Given the description of an element on the screen output the (x, y) to click on. 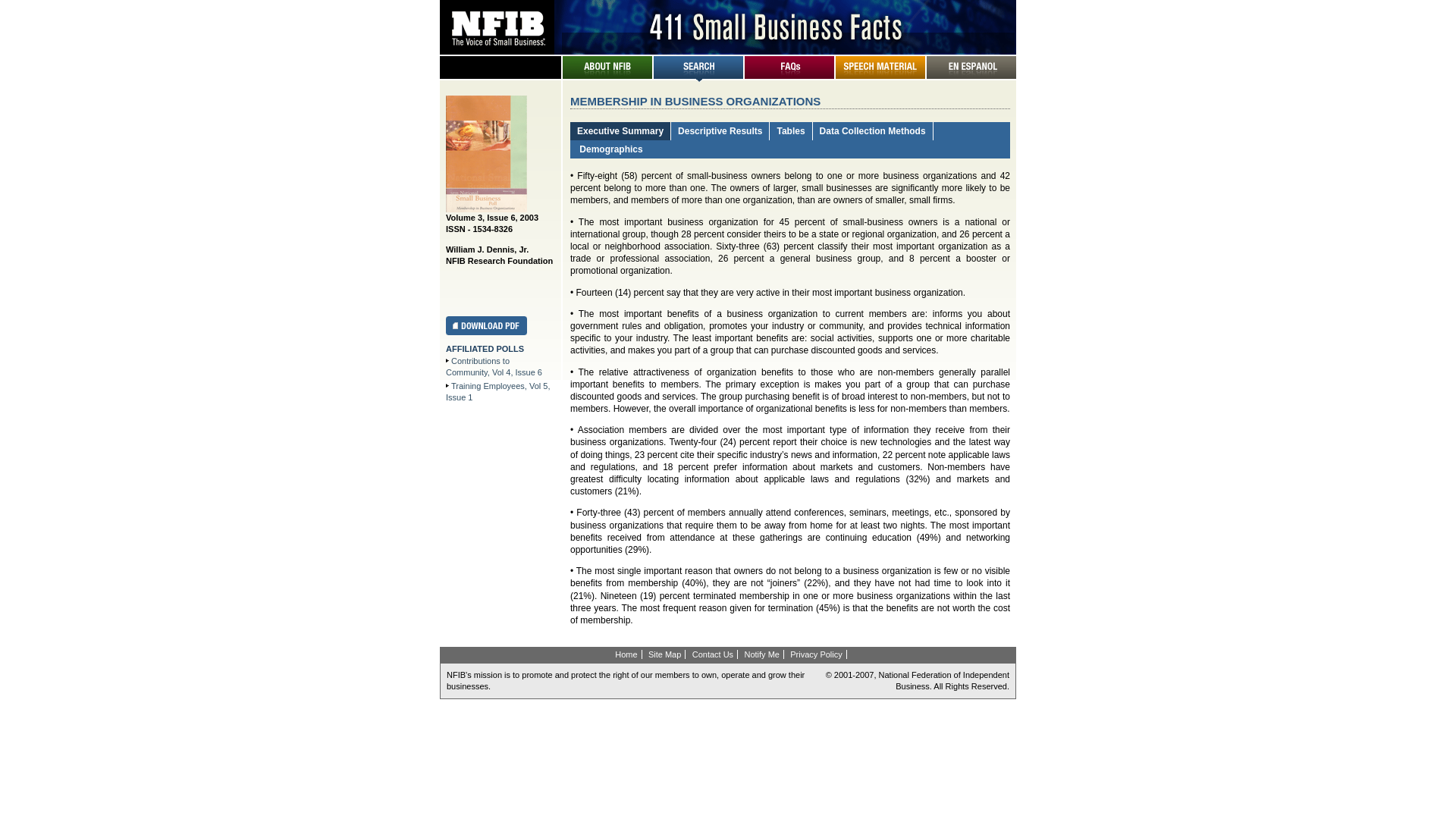
Home Element type: text (626, 653)
Training Employees, Vol 5, Issue 1 Element type: text (497, 391)
Download a PDF of this report Element type: hover (486, 331)
Descriptive Results Element type: text (719, 130)
Notify Me Element type: text (761, 653)
Site Map Element type: text (664, 653)
Frequently Asked Questions Element type: hover (788, 75)
Contributions to Community, Vol 4, Issue 6 Element type: text (493, 366)
 Demographics Element type: text (610, 149)
Return to the NFIB home page Element type: hover (727, 47)
About NFIB Element type: hover (606, 75)
Search Element type: hover (697, 75)
Tables Element type: text (790, 130)
Data Collection Methods Element type: text (872, 130)
Executive Summary Element type: text (620, 130)
Speech Material Element type: hover (879, 75)
Contact Us Element type: text (712, 653)
Privacy Policy Element type: text (816, 653)
